Given the description of an element on the screen output the (x, y) to click on. 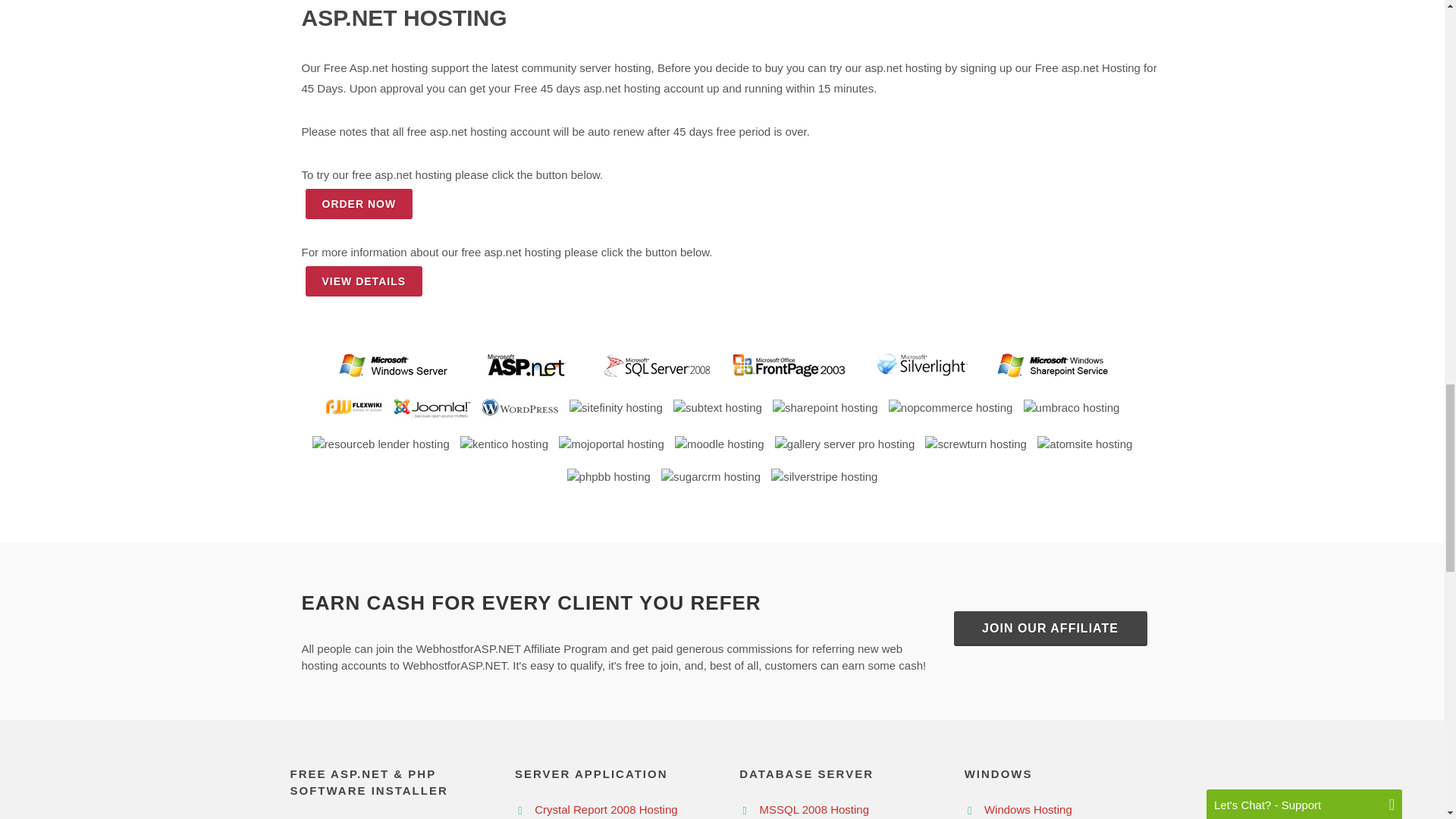
ORDER NOW (358, 204)
VIEW DETAILS (363, 281)
JOIN OUR AFFILIATE (1050, 628)
